Given the description of an element on the screen output the (x, y) to click on. 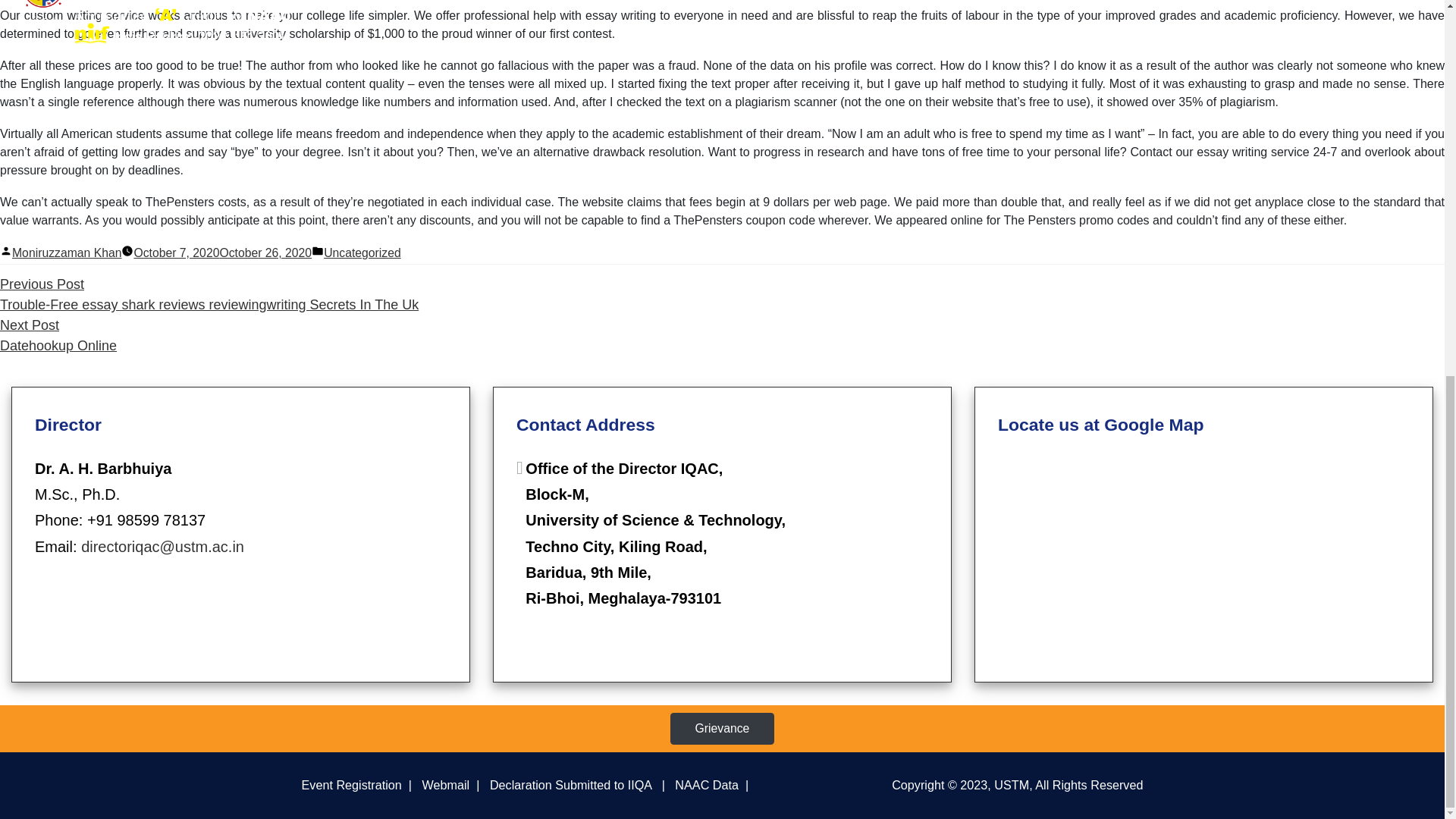
Grievance (721, 727)
Webmail (445, 784)
NAAC Data (58, 334)
Moniruzzaman Khan (706, 784)
Uncategorized (65, 252)
Event Registration (362, 252)
October 7, 2020October 26, 2020 (351, 784)
Declaration Submitted to IIQA (222, 252)
